Given the description of an element on the screen output the (x, y) to click on. 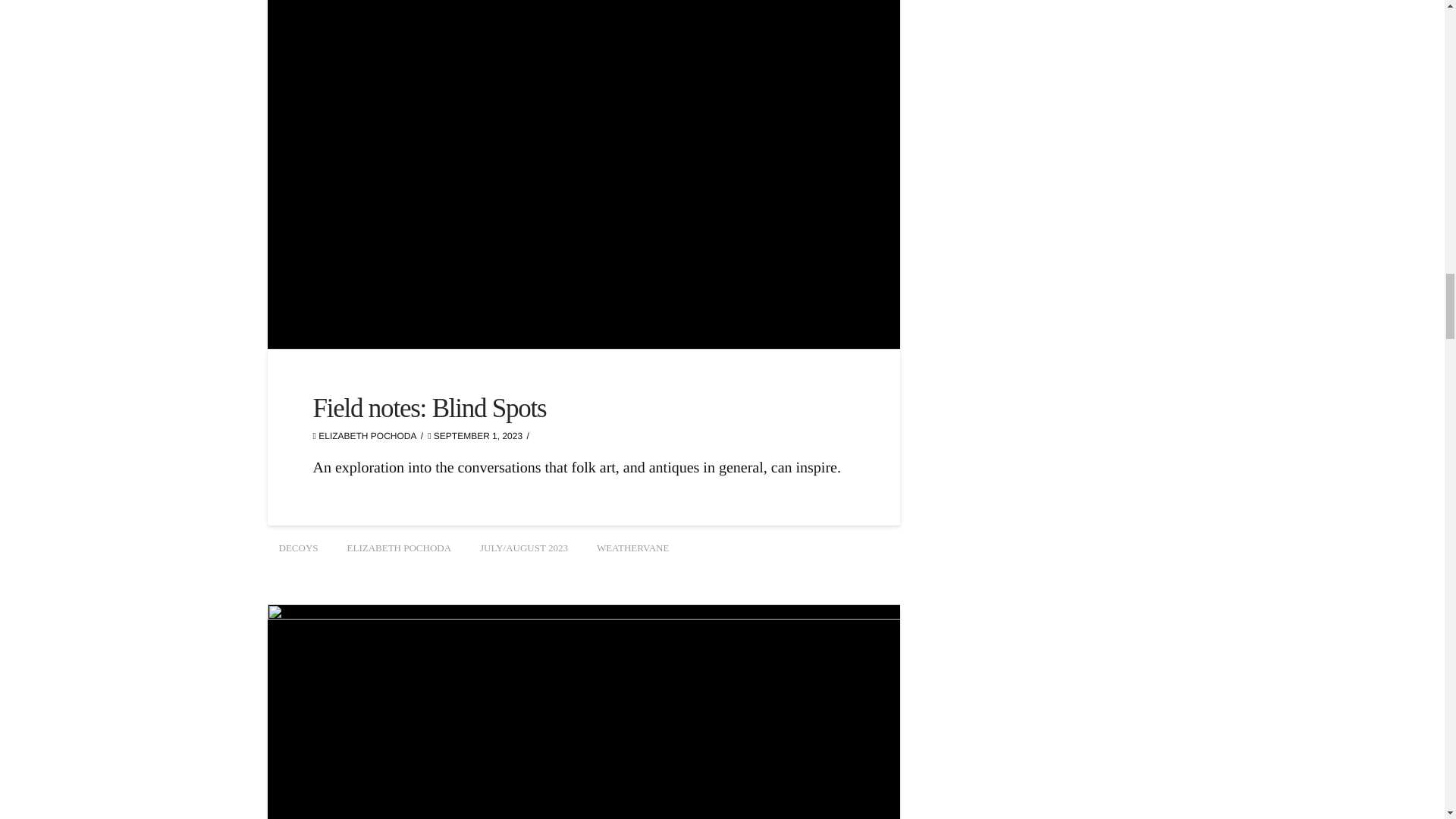
Permalink to: "Field notes: Blind Spots" (429, 408)
